Given the description of an element on the screen output the (x, y) to click on. 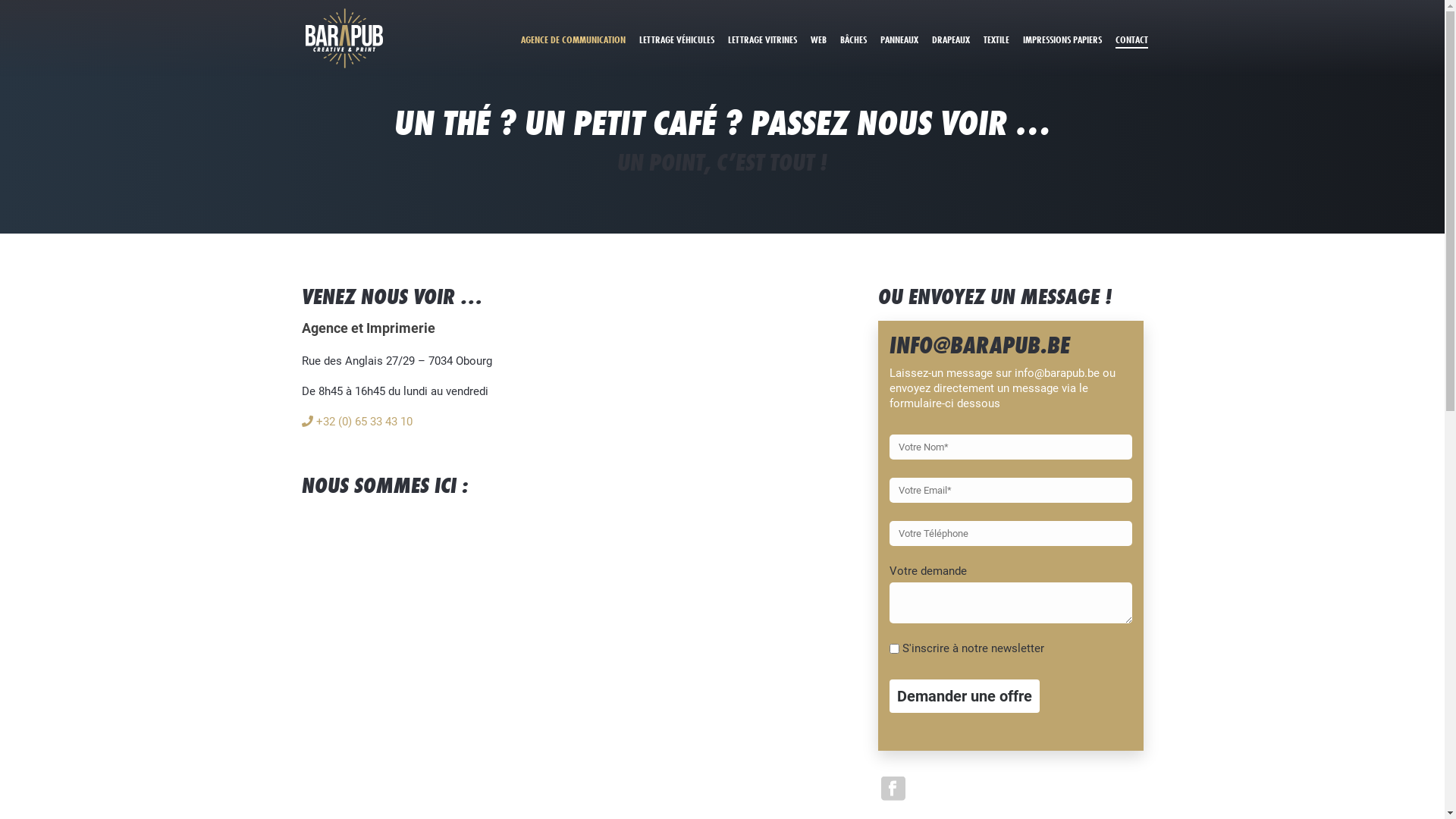
+32 (0) 65 33 43 10 Element type: text (359, 484)
PANNEAUX Element type: text (899, 39)
WEB Element type: text (818, 39)
IMPRESSIONS PAPIERS Element type: text (1062, 39)
+32 (0) 65 33 43 10 Element type: text (356, 421)
facebook.com/barapub Element type: text (784, 502)
AGENCE DE COMMUNICATION Element type: text (573, 39)
TEXTILE Element type: text (996, 39)
LETTRAGE VITRINES Element type: text (761, 39)
youtube.com/barapub Element type: text (782, 519)
info@barapub.be Element type: text (769, 429)
DRAPEAUX Element type: text (950, 39)
Demander une offre Element type: text (963, 695)
S'inscrire Element type: text (907, 603)
CONTACT Element type: text (1131, 39)
instagram.com/barapub Element type: text (924, 502)
